Given the description of an element on the screen output the (x, y) to click on. 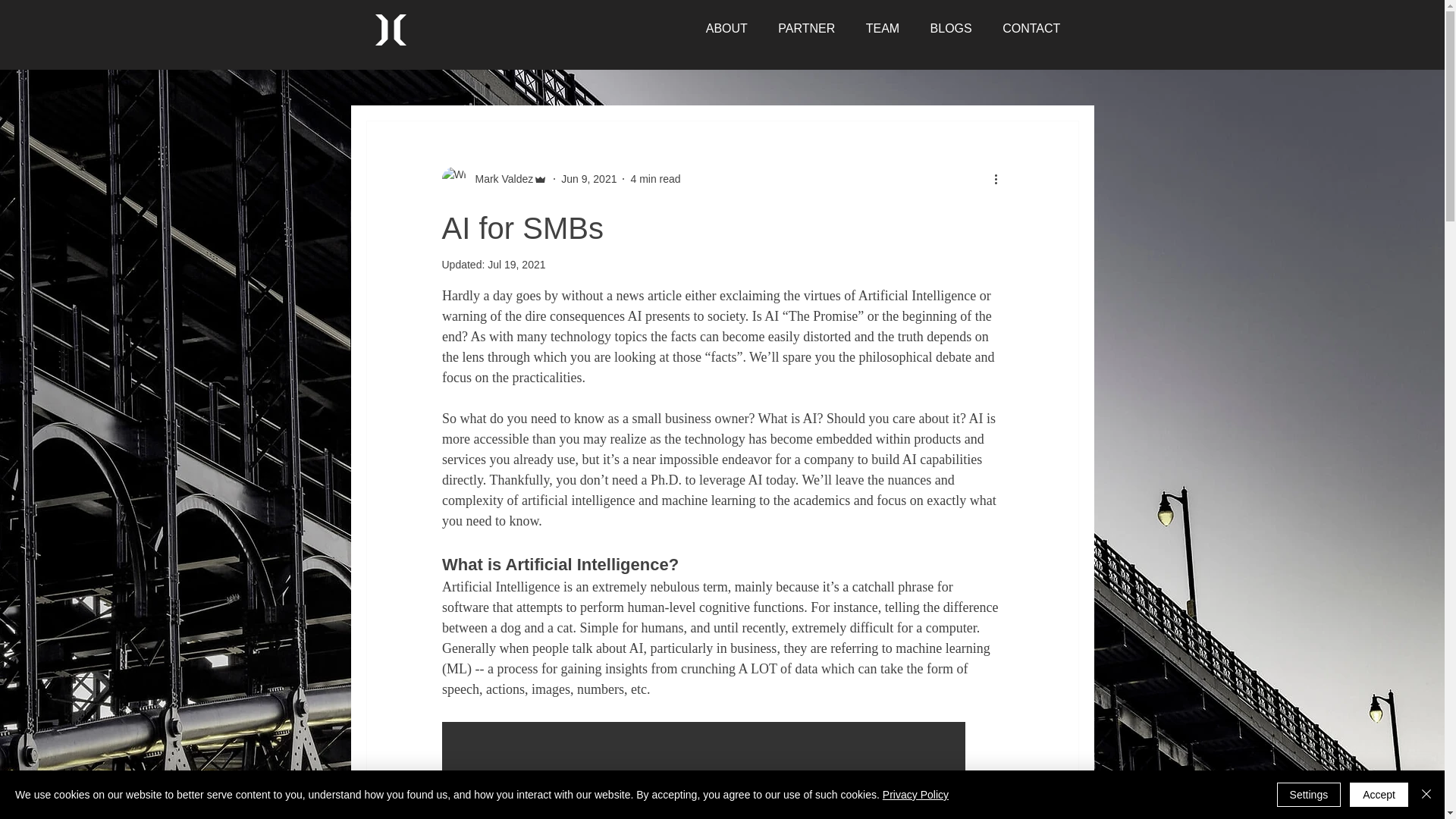
BLOGS (950, 28)
Accept (1378, 794)
4 min read (654, 178)
ABOUT (726, 28)
Mark Valdez (498, 179)
Jul 19, 2021 (515, 264)
PARTNER (806, 28)
Settings (1308, 794)
Jun 9, 2021 (587, 178)
TEAM (882, 28)
CONTACT (1031, 28)
Privacy Policy (915, 794)
